Given the description of an element on the screen output the (x, y) to click on. 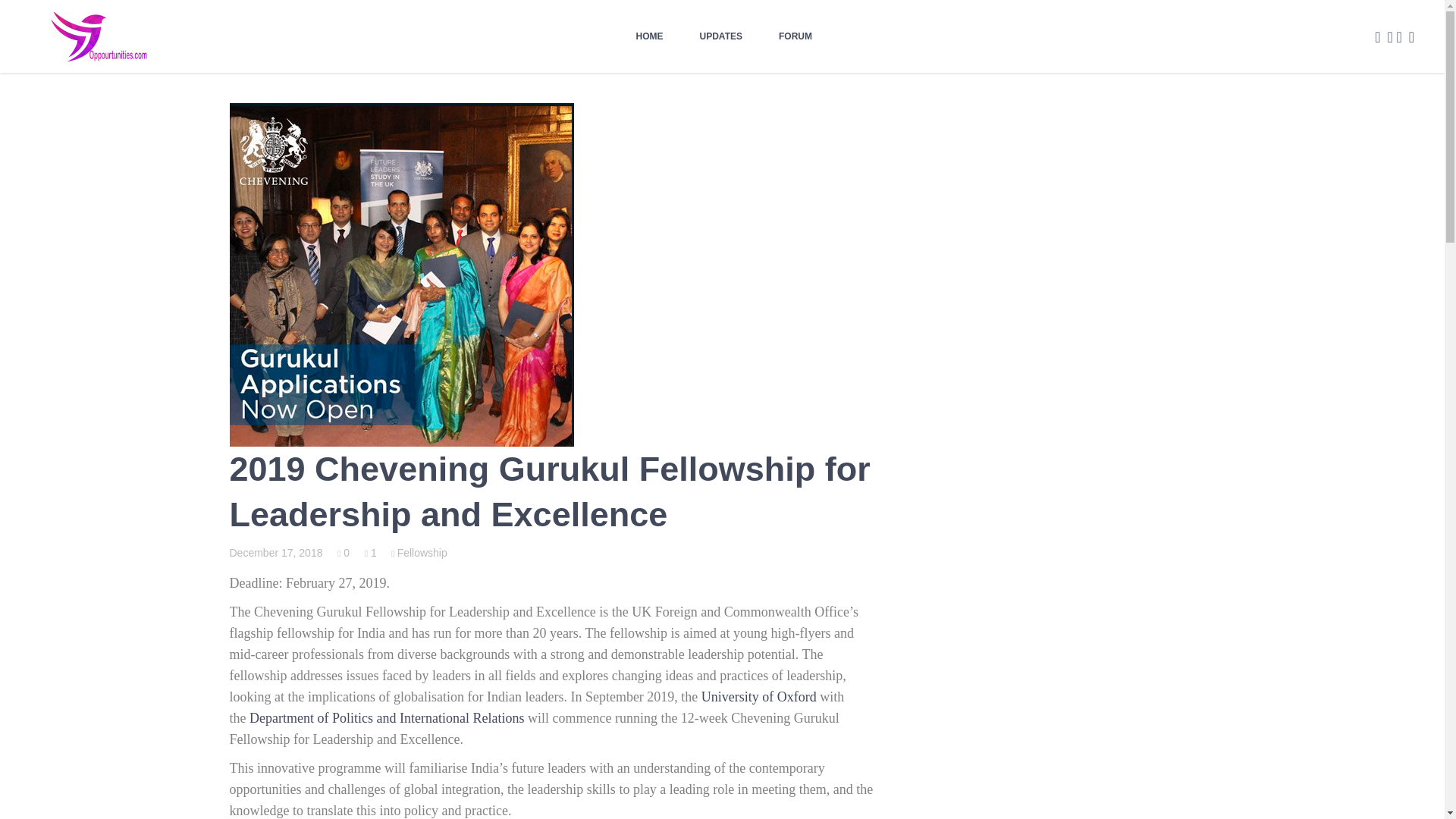
FORUM (794, 36)
December 17, 2018 (274, 552)
UPDATES (720, 36)
0 (343, 552)
Fellowship (418, 552)
Department of Politics and International Relations (386, 717)
Like this (343, 552)
University of Oxford (758, 696)
1 (371, 552)
